Given the description of an element on the screen output the (x, y) to click on. 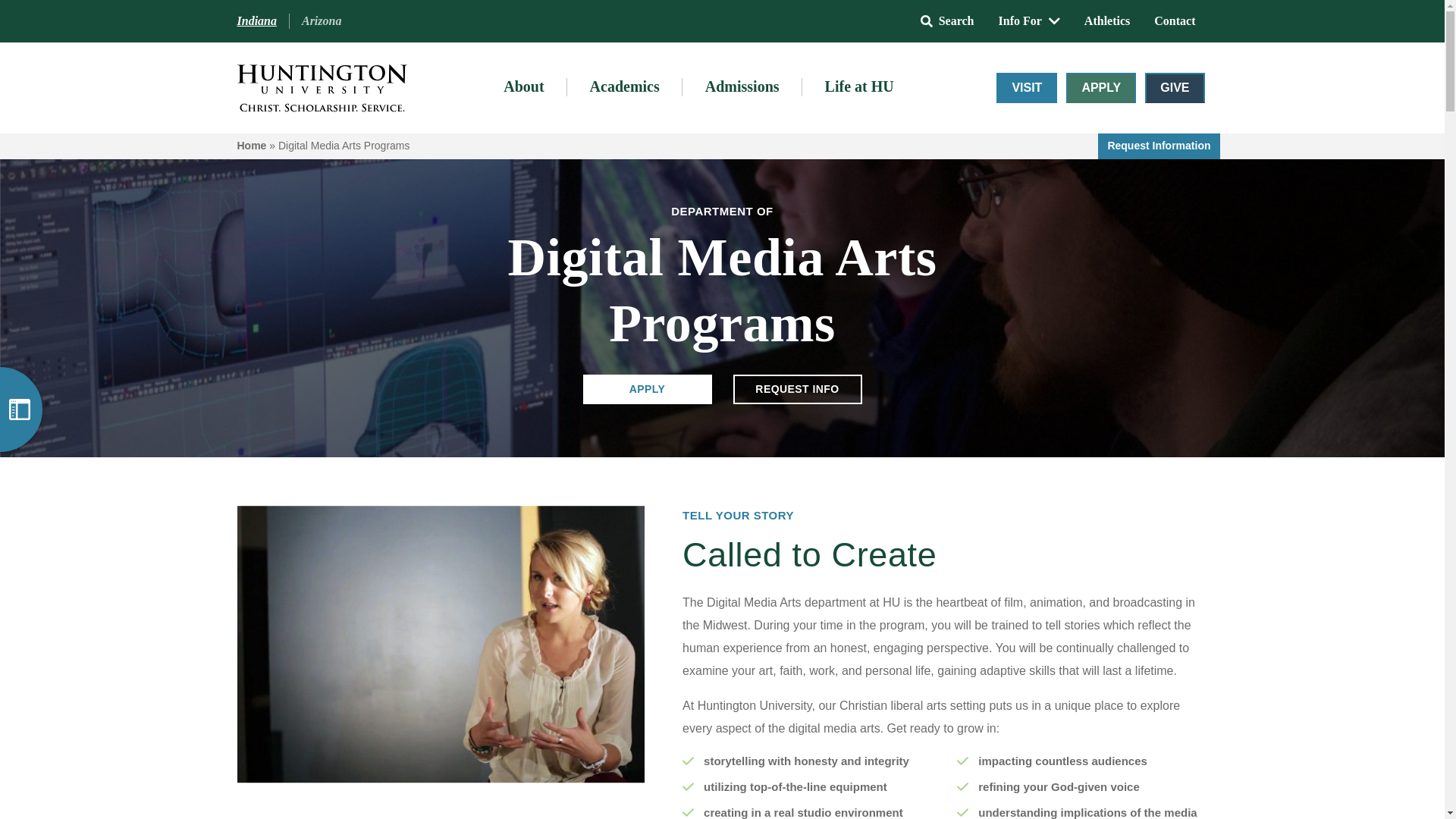
Search (947, 20)
About (523, 87)
Contact (1174, 20)
Arizona (321, 20)
Athletics (1106, 20)
Info For (1029, 20)
